Given the description of an element on the screen output the (x, y) to click on. 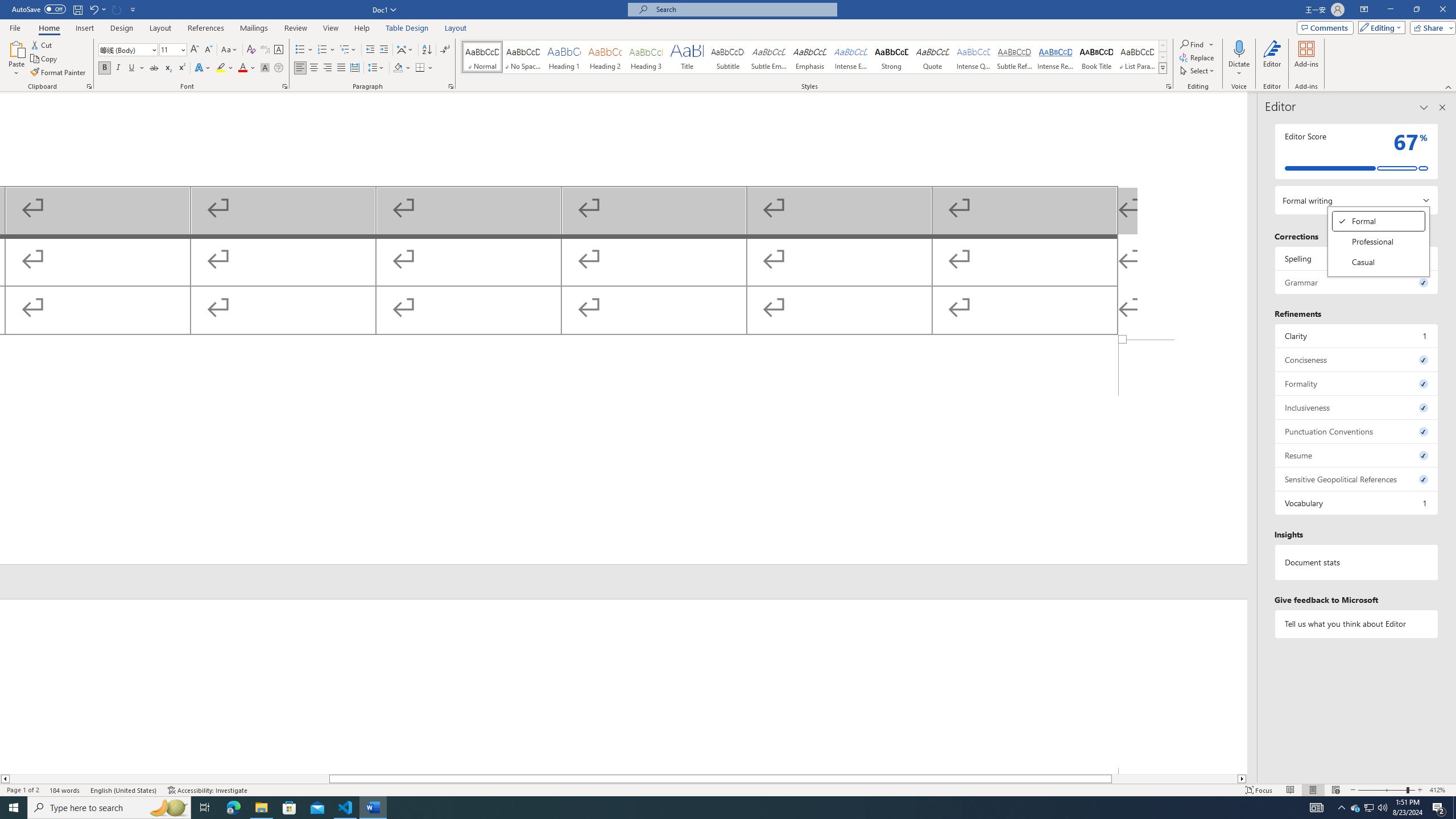
Running applications (717, 807)
Clarity, 1 issue. Press space or enter to review items. (1356, 335)
Action Center, 2 new notifications (1439, 807)
